Given the description of an element on the screen output the (x, y) to click on. 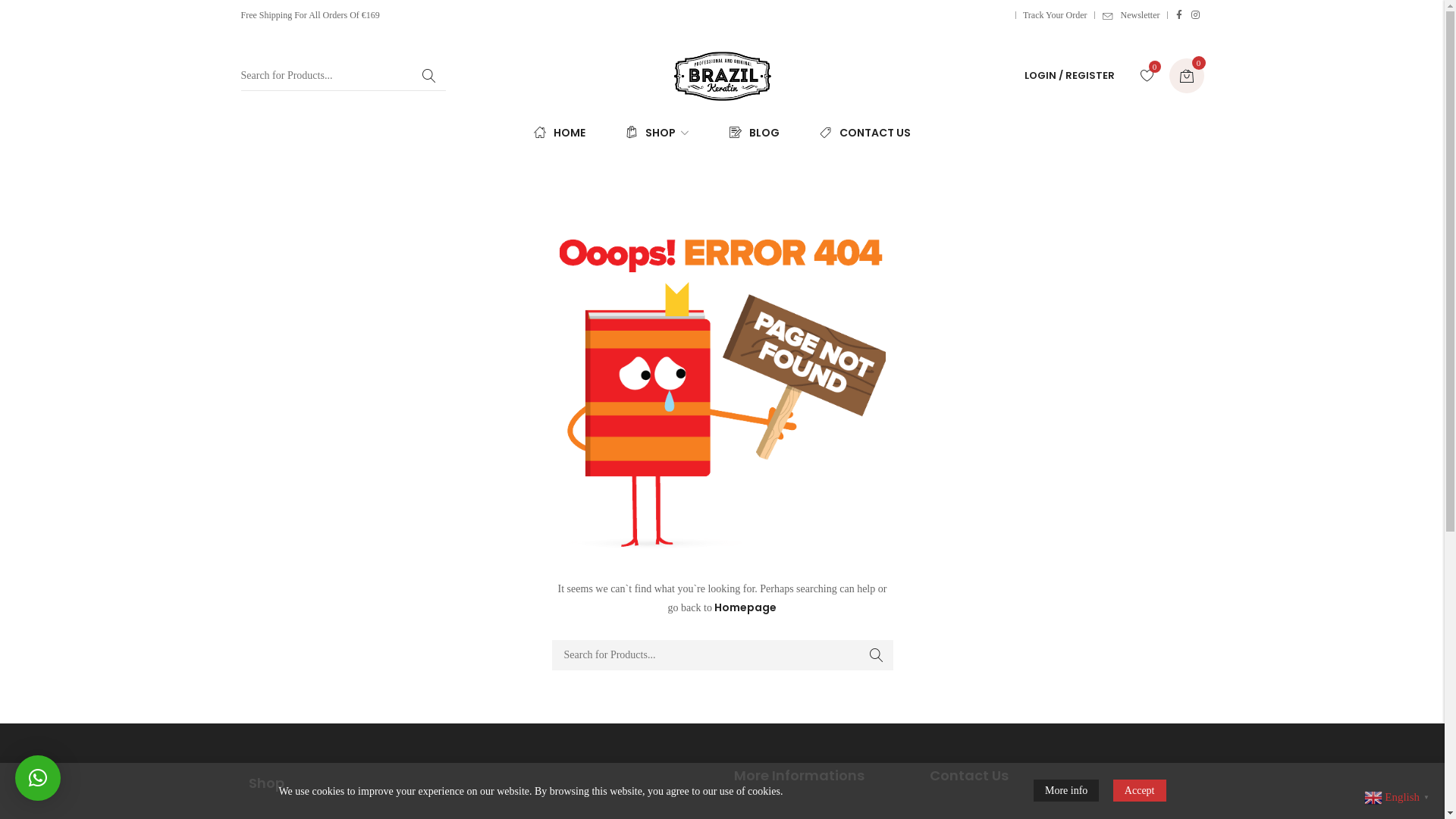
Search Element type: text (876, 655)
Instagram Element type: text (1194, 15)
Newsletter Element type: text (1131, 15)
Track Your Order Element type: text (1055, 15)
HOME Element type: text (563, 132)
Accept Element type: text (1139, 790)
0 Element type: text (1146, 75)
Facebook Element type: text (1178, 15)
LOGIN / REGISTER Element type: text (1068, 75)
0 Element type: text (1186, 75)
CONTACT US Element type: text (861, 132)
More info Element type: text (1065, 790)
Search Element type: text (428, 75)
Homepage Element type: text (745, 607)
SHOP Element type: text (657, 132)
Professional and Original Element type: hover (721, 75)
Login Element type: text (991, 298)
BLOG Element type: text (754, 132)
